Given the description of an element on the screen output the (x, y) to click on. 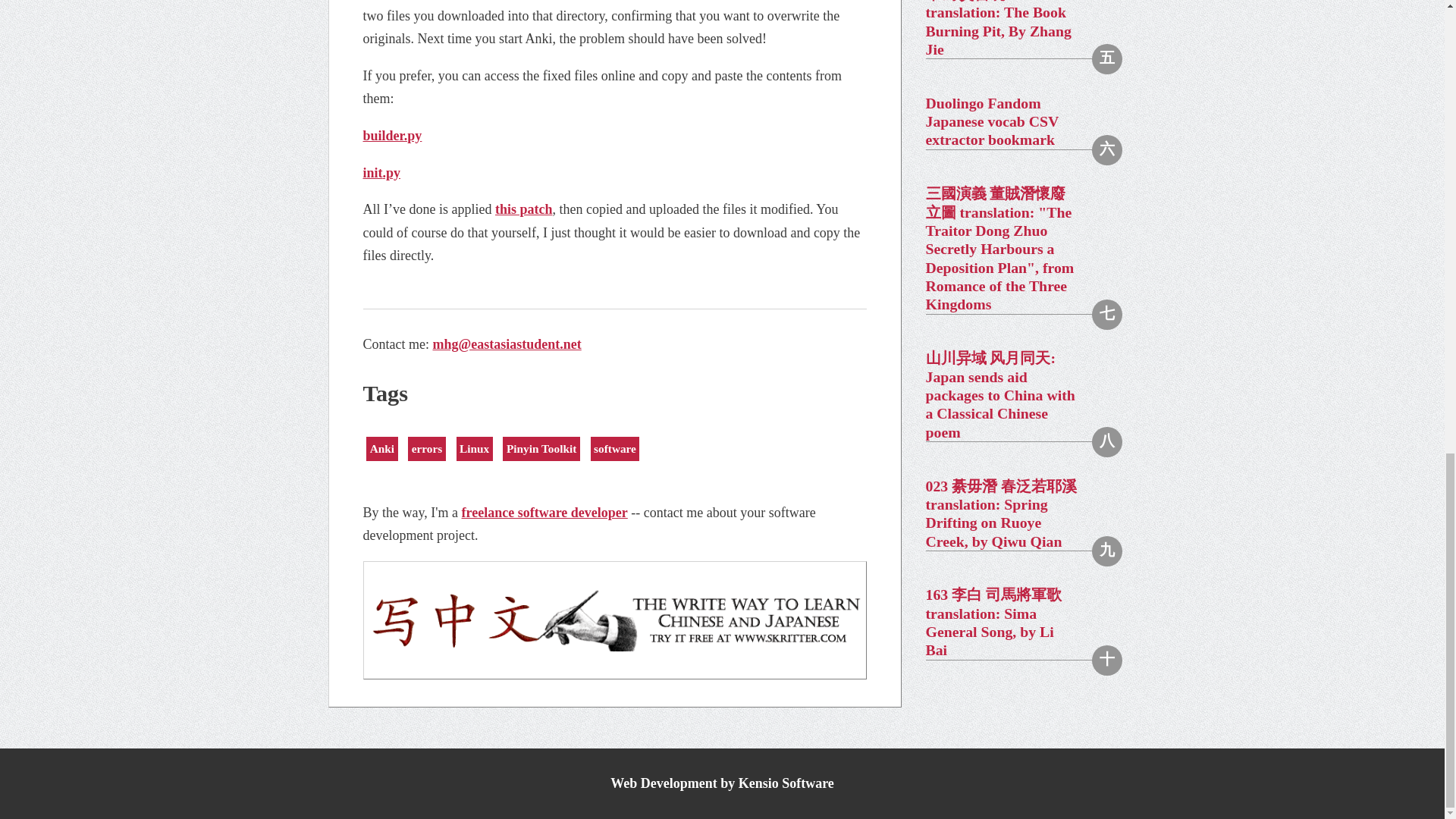
errors (426, 448)
Anki (381, 448)
freelance software developer (544, 512)
Web Development by Kensio Software (722, 783)
Duolingo Fandom Japanese vocab CSV extractor bookmark (1015, 121)
cjklib patch to match sqlalchemy changes (524, 209)
Pinyin Toolkit (540, 448)
Freelance Software Development (544, 512)
init.py (381, 172)
Linux (475, 448)
this patch (524, 209)
software (615, 448)
builder.py (392, 135)
Custom Web Development Projects (722, 783)
